Given the description of an element on the screen output the (x, y) to click on. 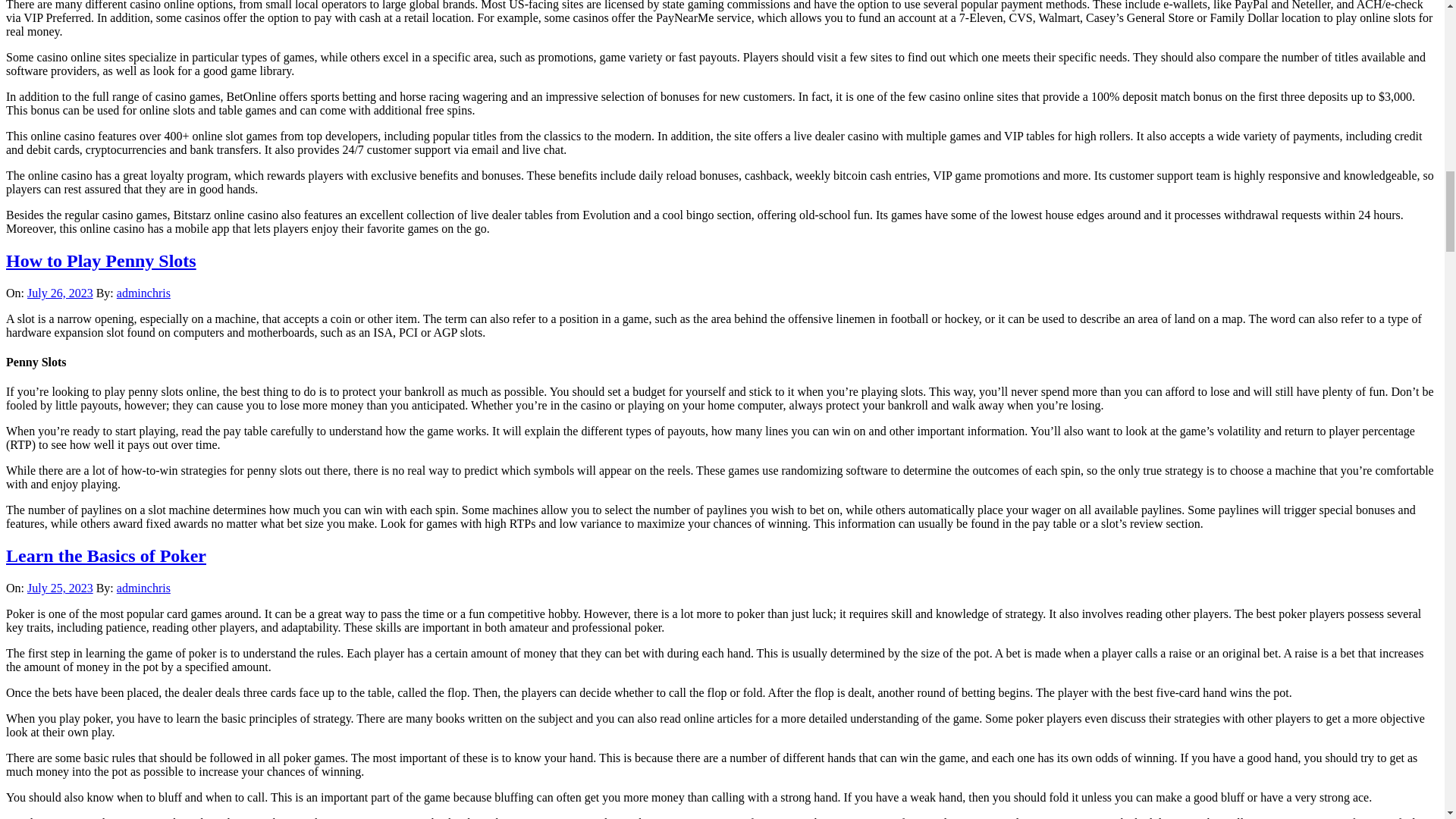
How to Play Penny Slots (100, 260)
adminchris (143, 292)
July 25, 2023 (60, 587)
adminchris (143, 587)
Learn the Basics of Poker (105, 555)
July 26, 2023 (60, 292)
